Given the description of an element on the screen output the (x, y) to click on. 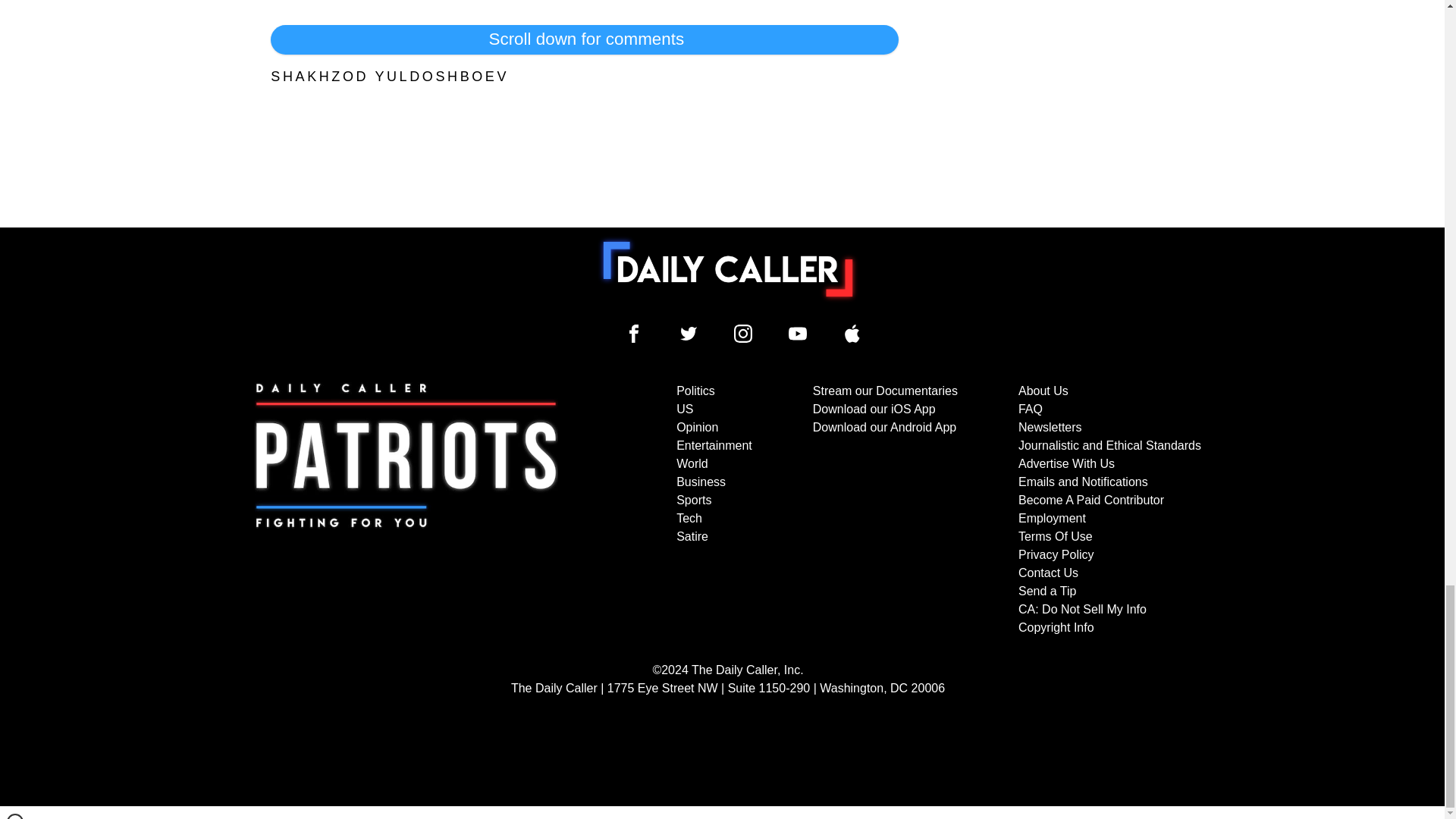
Daily Caller Twitter (688, 333)
Daily Caller Instagram (742, 333)
Daily Caller YouTube (852, 333)
Daily Caller Facebook (633, 333)
Scroll down for comments (584, 39)
To home page (727, 268)
Daily Caller YouTube (797, 333)
Subscribe to The Daily Caller (405, 509)
